Given the description of an element on the screen output the (x, y) to click on. 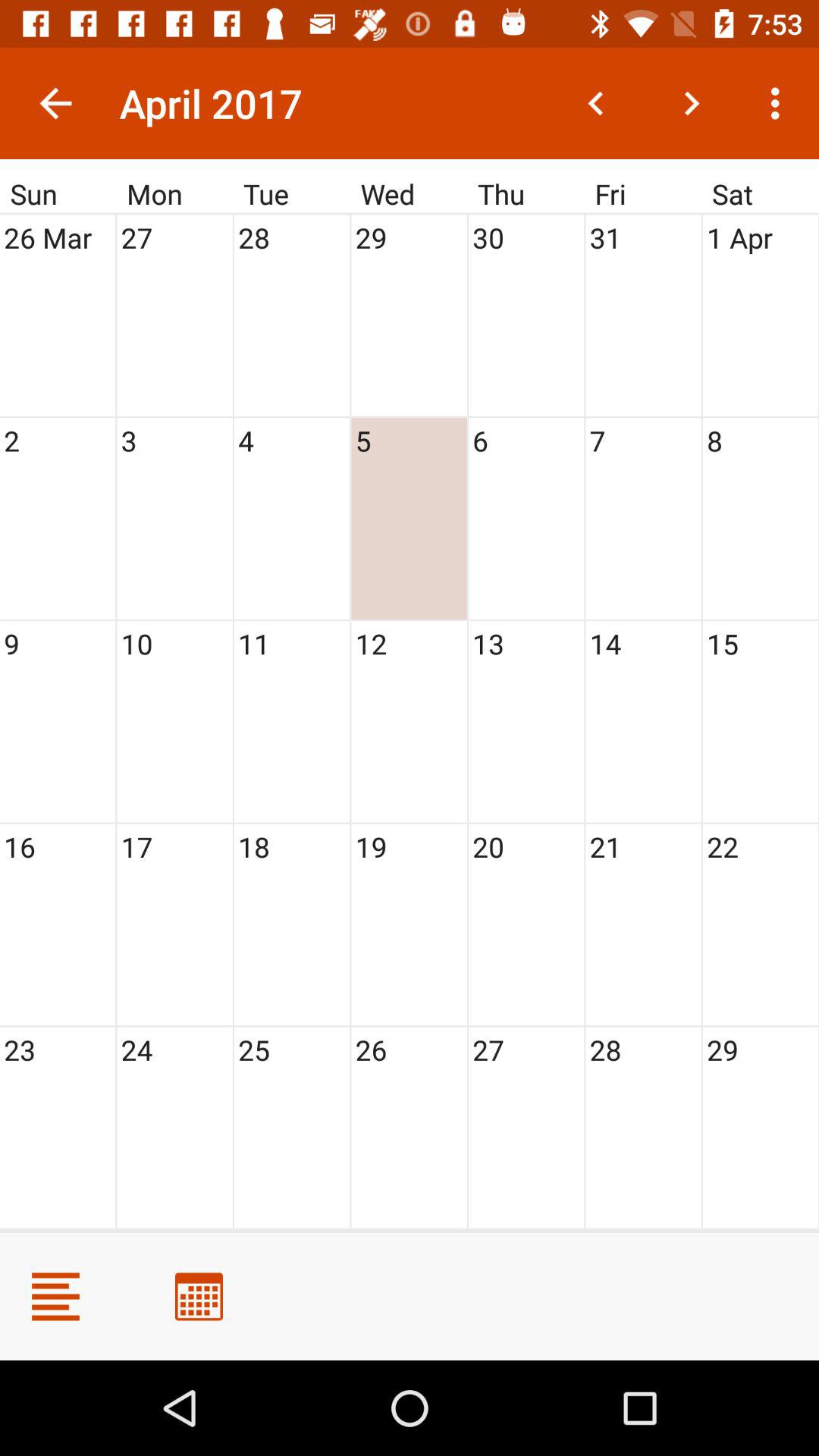
select previous month (595, 103)
